Given the description of an element on the screen output the (x, y) to click on. 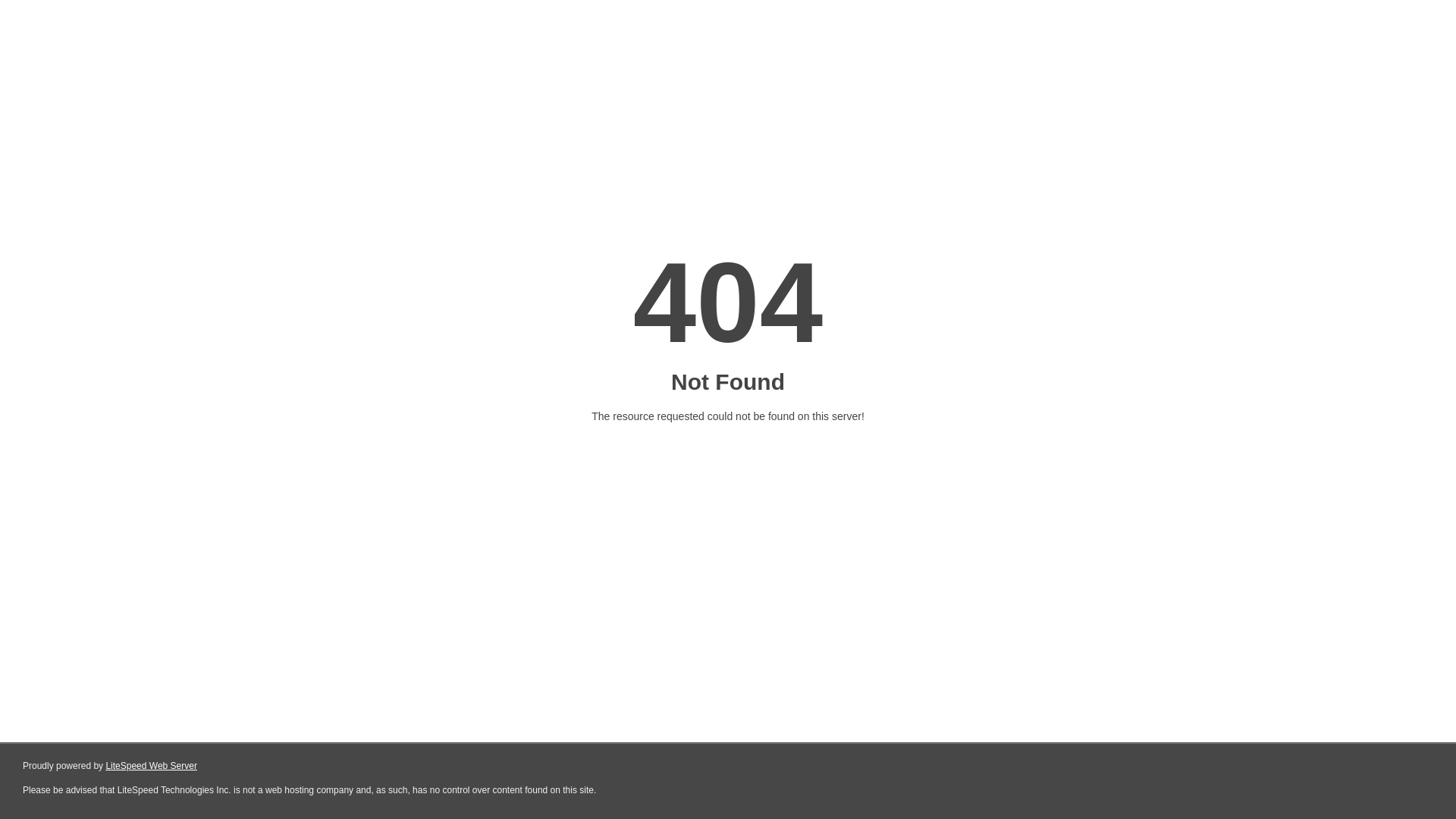
LiteSpeed Web Server Element type: text (151, 765)
